Given the description of an element on the screen output the (x, y) to click on. 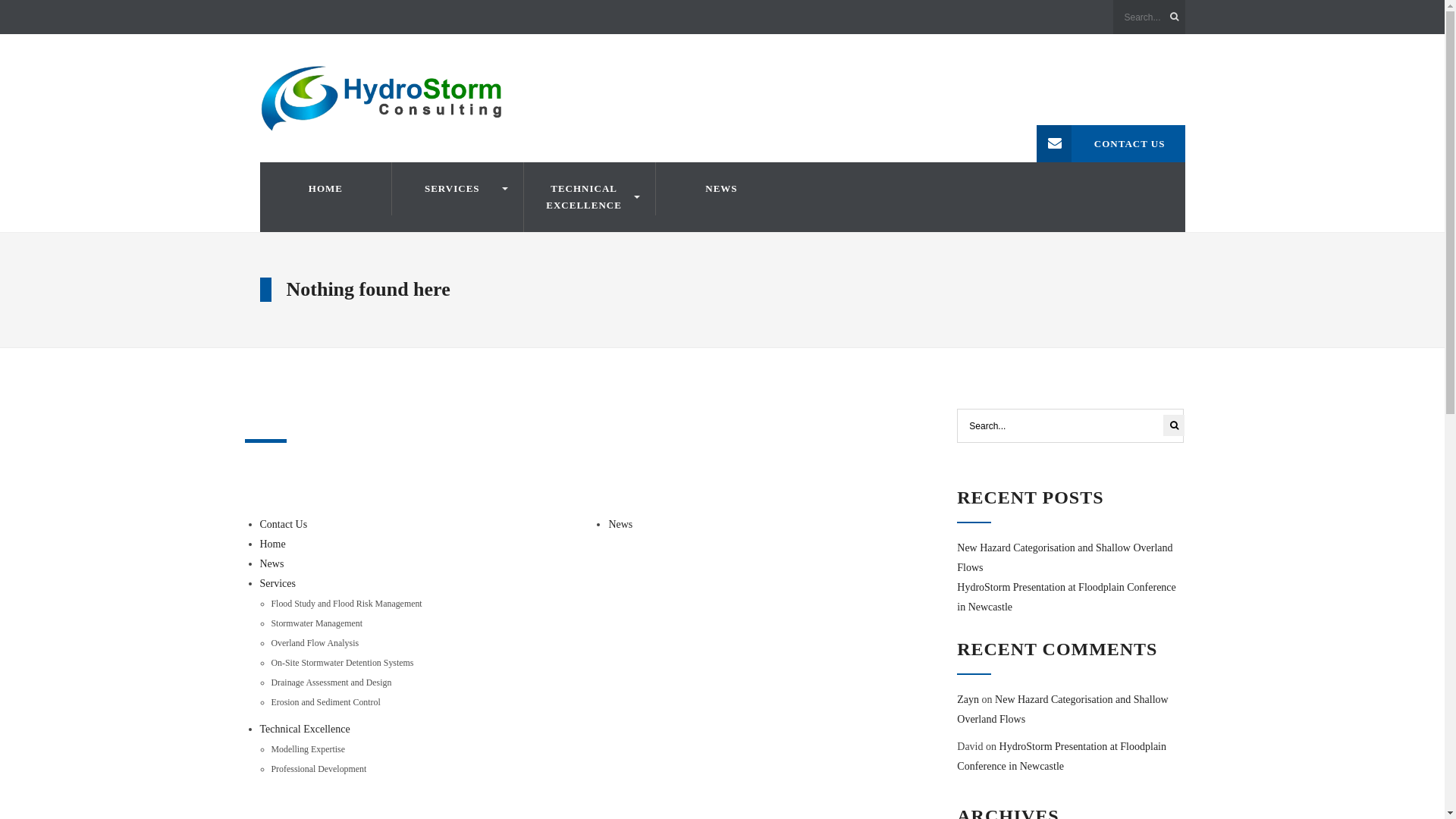
Flood Study and Flood Risk Management Element type: text (346, 603)
News Element type: text (271, 563)
Modelling Expertise Element type: text (308, 748)
SERVICES Element type: text (457, 188)
New Hazard Categorisation and Shallow Overland Flows Element type: text (1064, 557)
NEWS Element type: text (721, 188)
TECHNICAL EXCELLENCE Element type: text (589, 197)
Overland Flow Analysis Element type: text (315, 642)
Professional Development Element type: text (319, 768)
On-Site Stormwater Detention Systems Element type: text (342, 662)
Technical Excellence Element type: text (304, 728)
Erosion and Sediment Control Element type: text (325, 701)
Services Element type: text (276, 583)
CONTACT US Element type: text (1110, 143)
Zayn Element type: text (968, 699)
New Hazard Categorisation and Shallow Overland Flows Element type: text (1062, 708)
Home Element type: text (272, 543)
Stormwater Management Element type: text (317, 623)
Contact Us Element type: text (283, 524)
HOME Element type: text (325, 188)
Drainage Assessment and Design Element type: text (331, 682)
News Element type: text (620, 524)
